Given the description of an element on the screen output the (x, y) to click on. 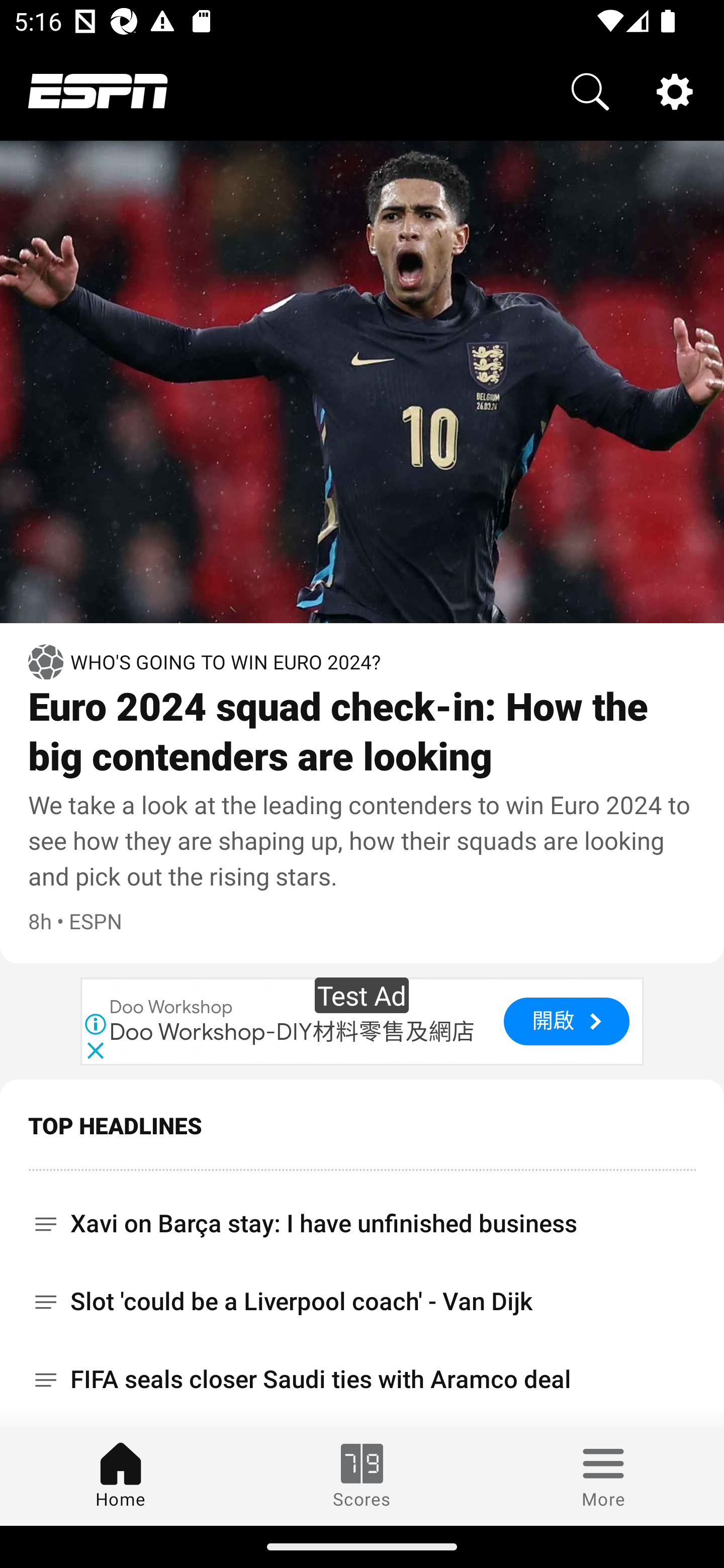
Search (590, 90)
Settings (674, 90)
 Xavi on Barça stay: I have unfinished business (362, 1216)
 Slot 'could be a Liverpool coach' - Van Dijk (362, 1301)
 FIFA seals closer Saudi ties with Aramco deal (362, 1379)
Scores (361, 1475)
More (603, 1475)
